Given the description of an element on the screen output the (x, y) to click on. 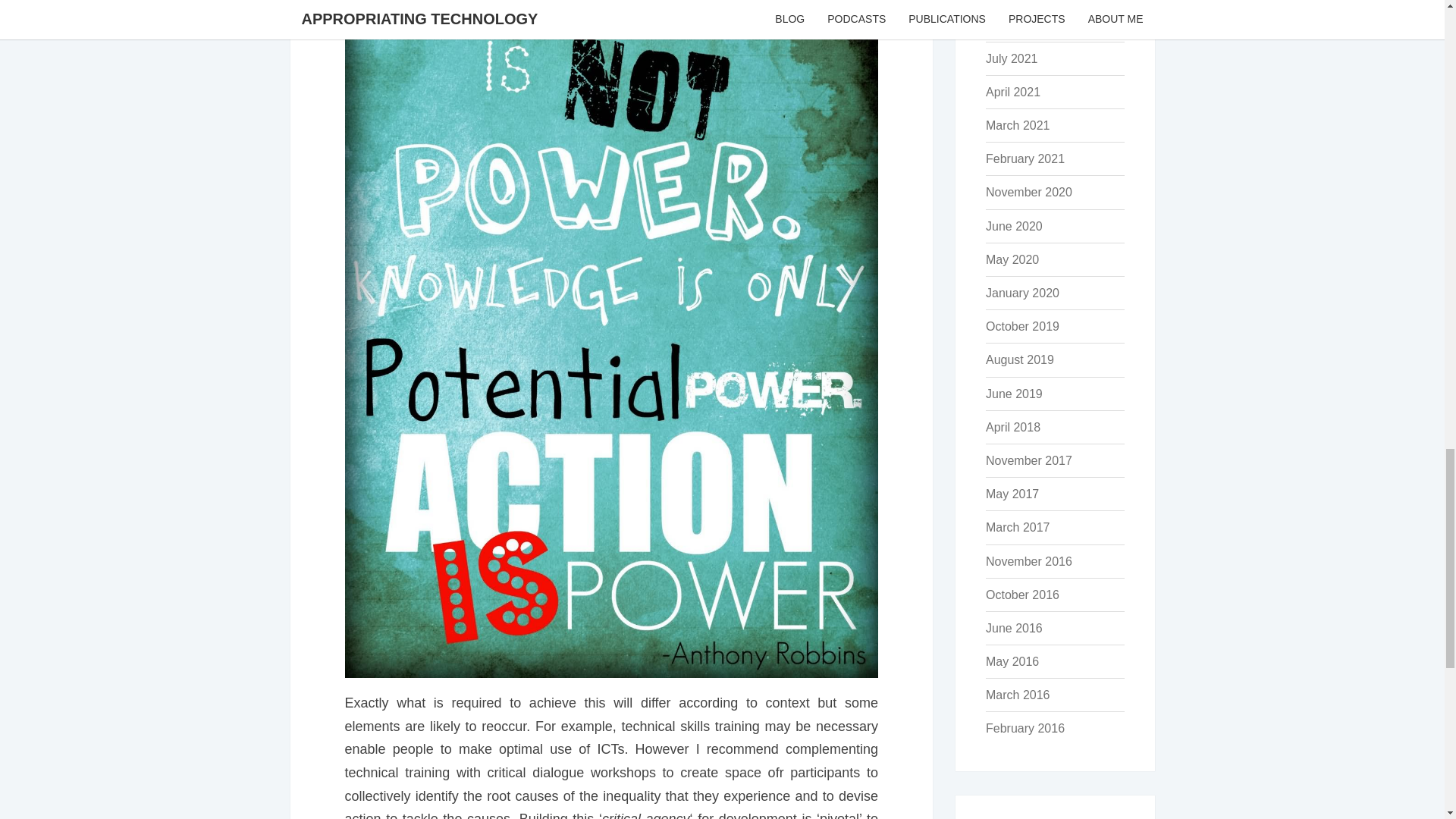
June 2020 (1013, 226)
April 2021 (1013, 91)
July 2021 (1011, 58)
March 2021 (1017, 124)
November 2020 (1028, 192)
January 2020 (1022, 292)
May 2020 (1012, 259)
February 2021 (1024, 158)
August 2021 (1019, 24)
October 2019 (1022, 326)
